Given the description of an element on the screen output the (x, y) to click on. 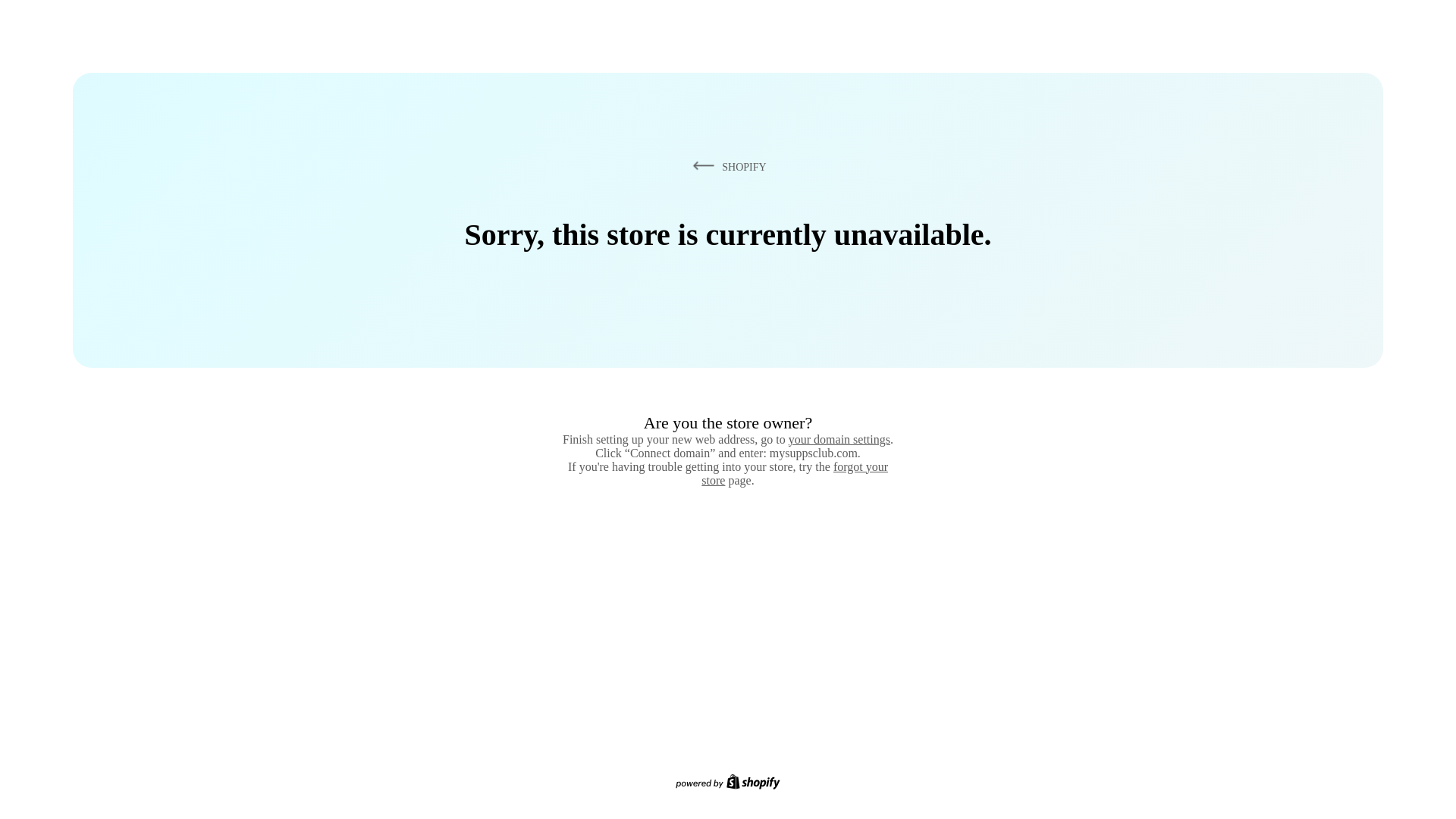
your domain settings (839, 439)
SHOPIFY (726, 166)
forgot your store (794, 473)
